Given the description of an element on the screen output the (x, y) to click on. 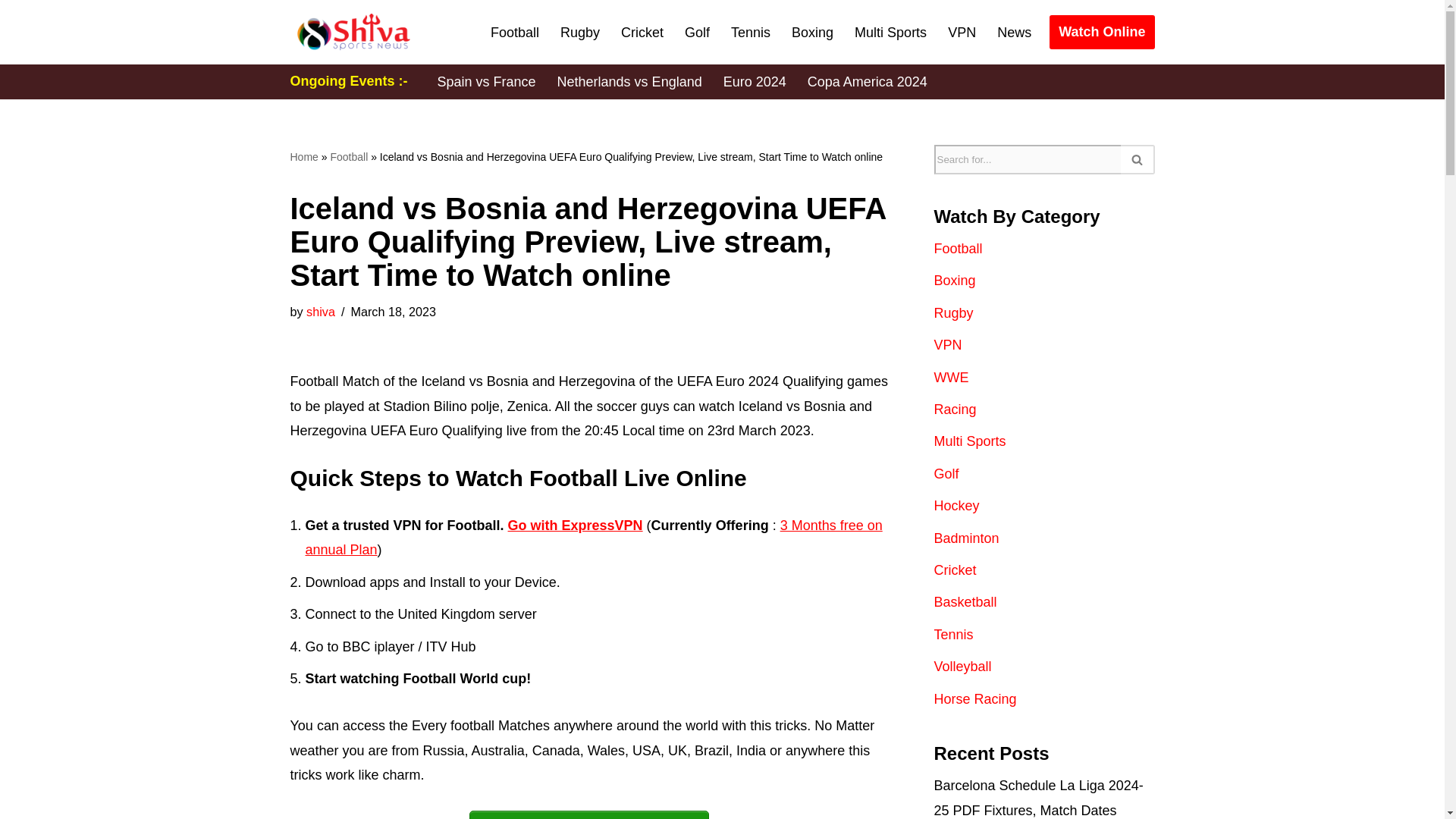
Skip to content (11, 31)
VPN (961, 32)
Golf (697, 32)
Football (349, 156)
ExpressVPN Football (575, 525)
Home (303, 156)
News (1013, 32)
Football (514, 32)
Netherlands vs England (629, 81)
Rugby (579, 32)
